Given the description of an element on the screen output the (x, y) to click on. 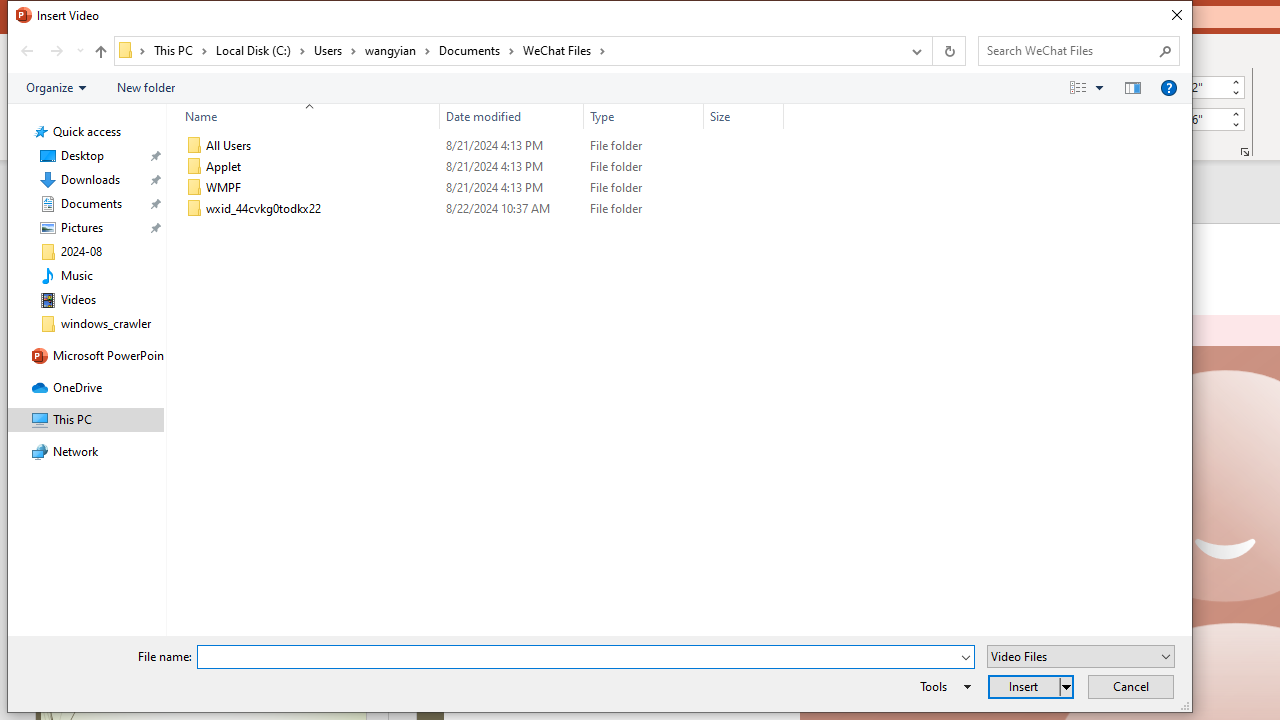
Applet (480, 166)
File name: (586, 656)
Filter dropdown (775, 115)
All Users (480, 145)
&Help (1168, 87)
This PC (180, 50)
Name (321, 209)
Class: UIImage (194, 209)
Previous Locations (914, 51)
Up to "Documents" (Alt + Up Arrow) (100, 52)
WMPF (480, 187)
Cancel (1130, 686)
